Given the description of an element on the screen output the (x, y) to click on. 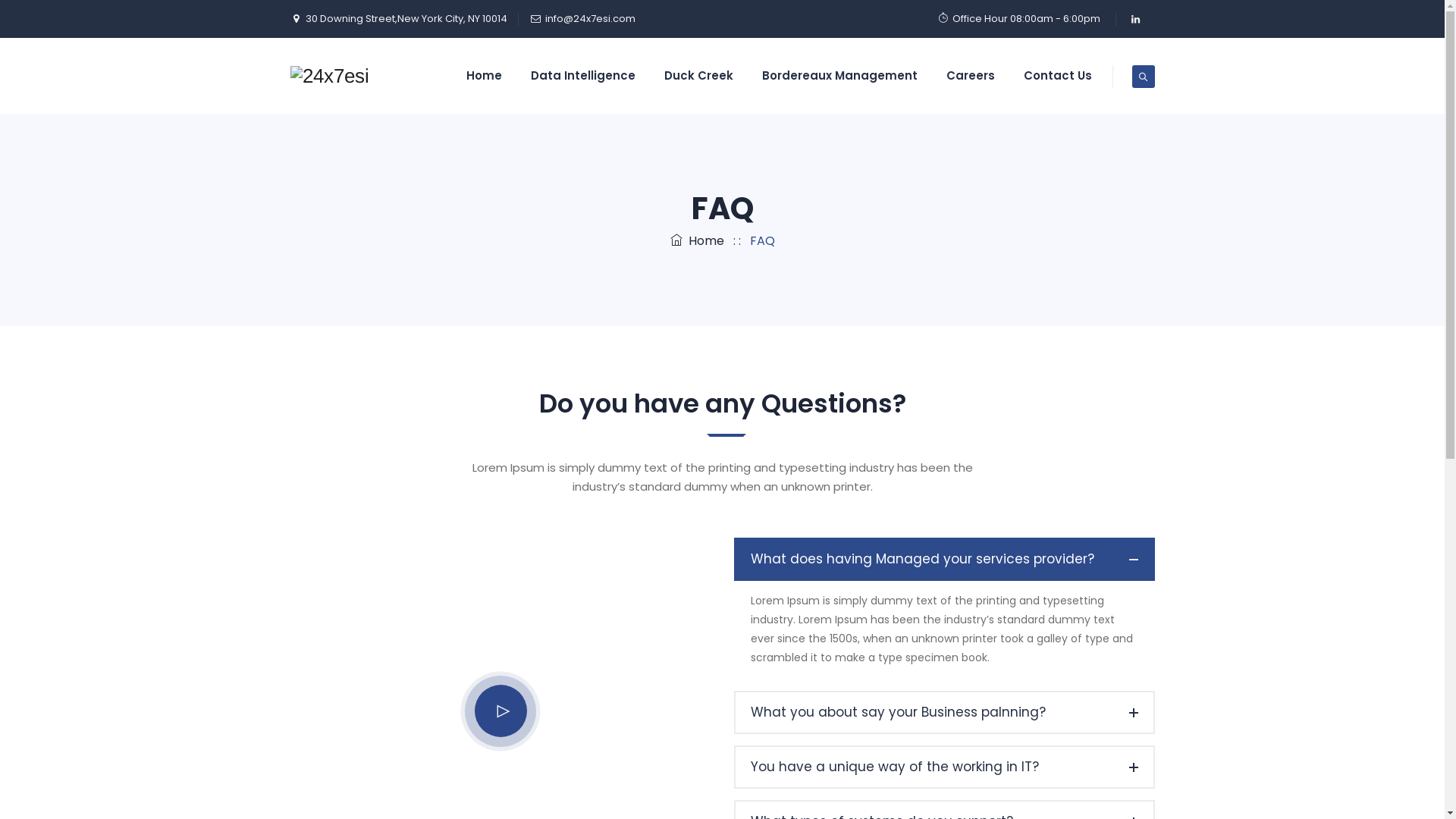
Duck Creek Element type: text (697, 75)
Home Element type: text (483, 75)
You have a unique way of the working in IT? Element type: text (944, 766)
info@24x7esi.com Element type: text (589, 18)
What does having Managed your services provider? Element type: text (944, 559)
24x7esi Element type: hover (328, 75)
Data Intelligence Element type: text (582, 75)
  Home Element type: text (697, 240)
Bordereaux Management Element type: text (839, 75)
What you about say your Business palnning? Element type: text (944, 712)
Careers Element type: text (969, 75)
Contact Us Element type: text (1057, 75)
